Given the description of an element on the screen output the (x, y) to click on. 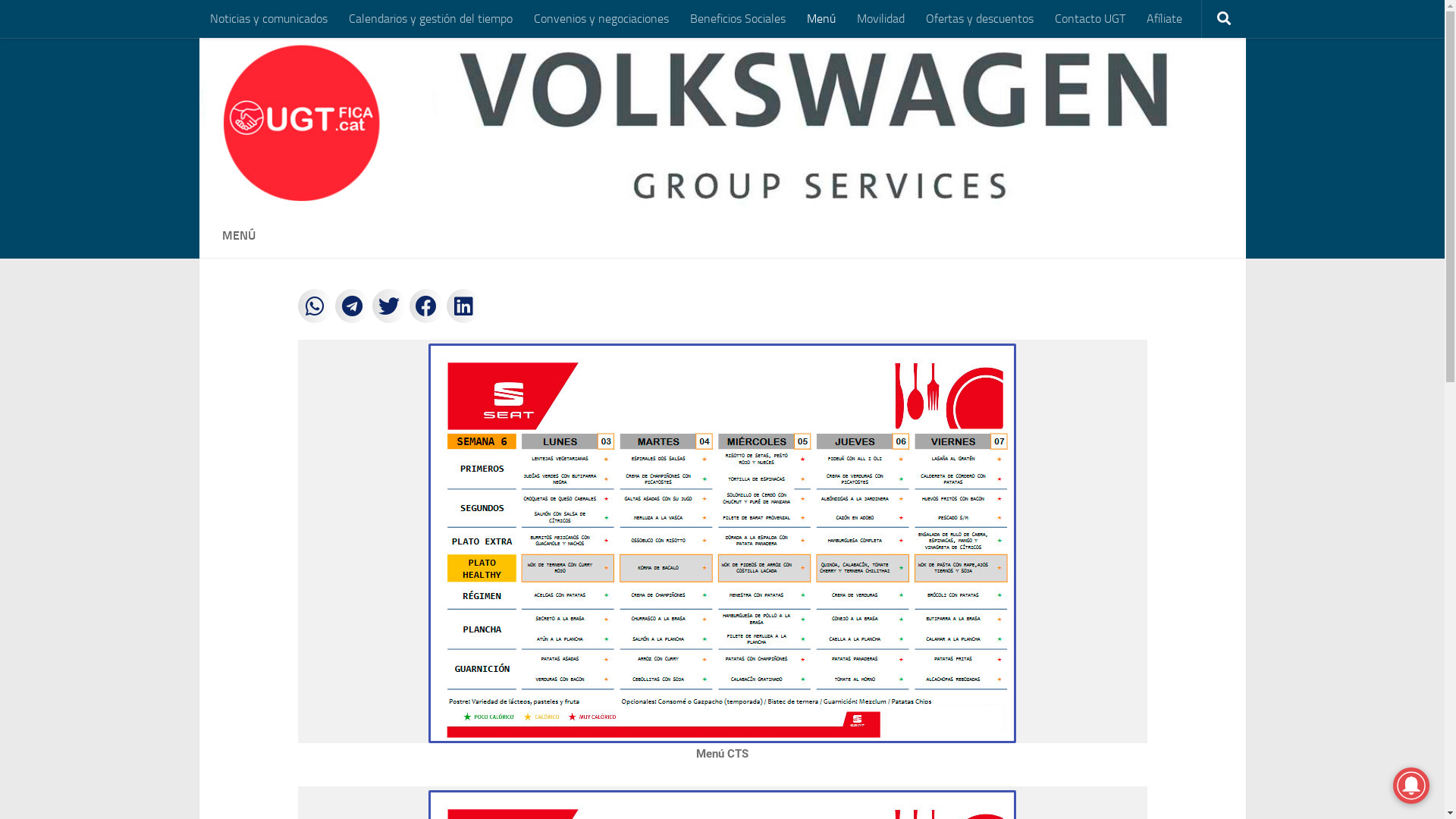
Saltar al contenido Element type: text (69, 21)
Ofertas y descuentos Element type: text (978, 18)
Contacto UGT Element type: text (1089, 18)
Movilidad Element type: text (880, 18)
Beneficios Sociales Element type: text (737, 18)
Convenios y negociaciones Element type: text (601, 18)
Noticias y comunicados Element type: text (267, 18)
